Given the description of an element on the screen output the (x, y) to click on. 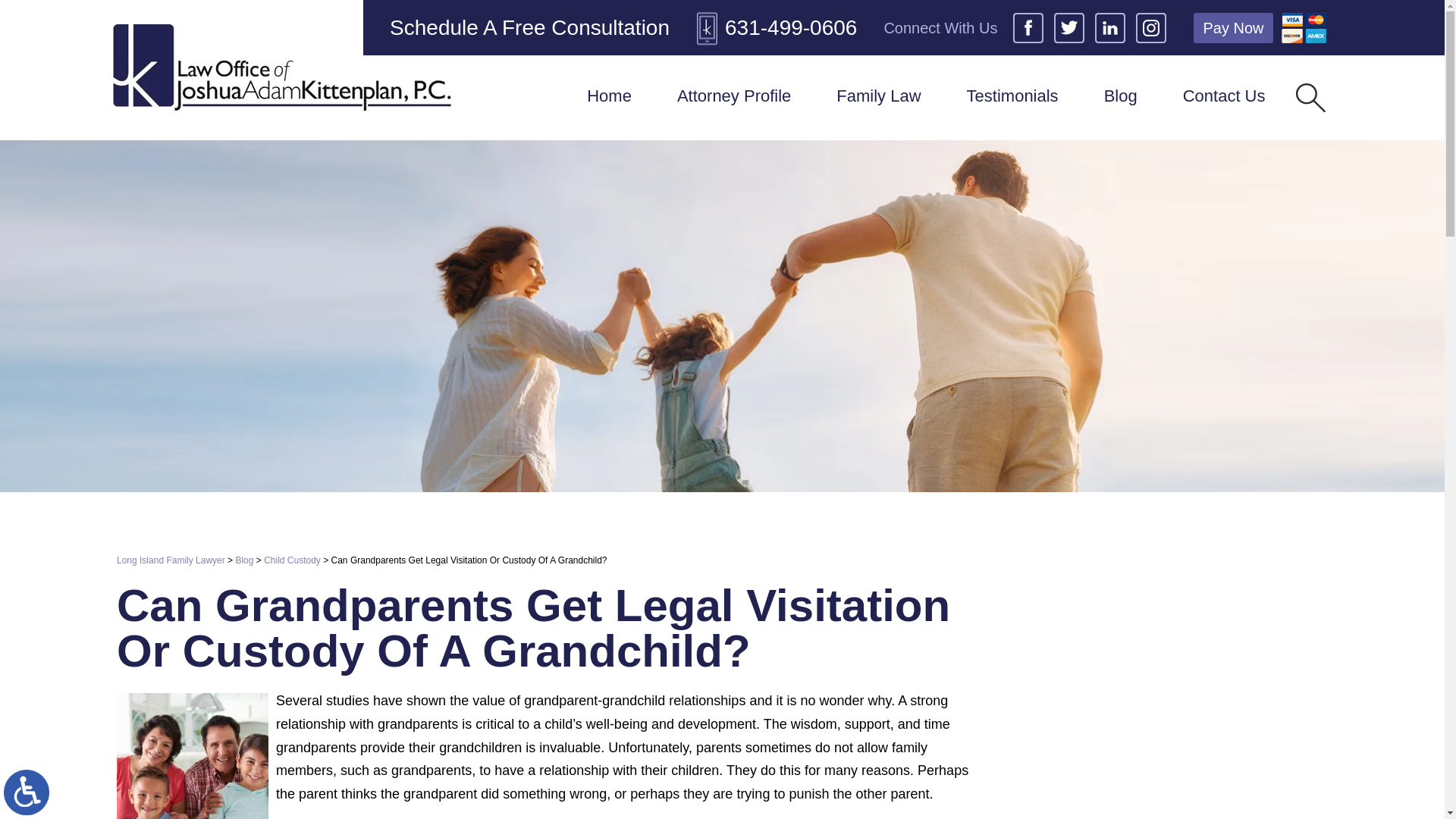
Switch to ADA Accessible Website (26, 791)
Testimonials (1012, 96)
Grandparents (191, 755)
Family Law (878, 96)
Attorney Profile (733, 96)
631-499-0606 (776, 26)
Pay Now (1232, 27)
Home (608, 96)
